Given the description of an element on the screen output the (x, y) to click on. 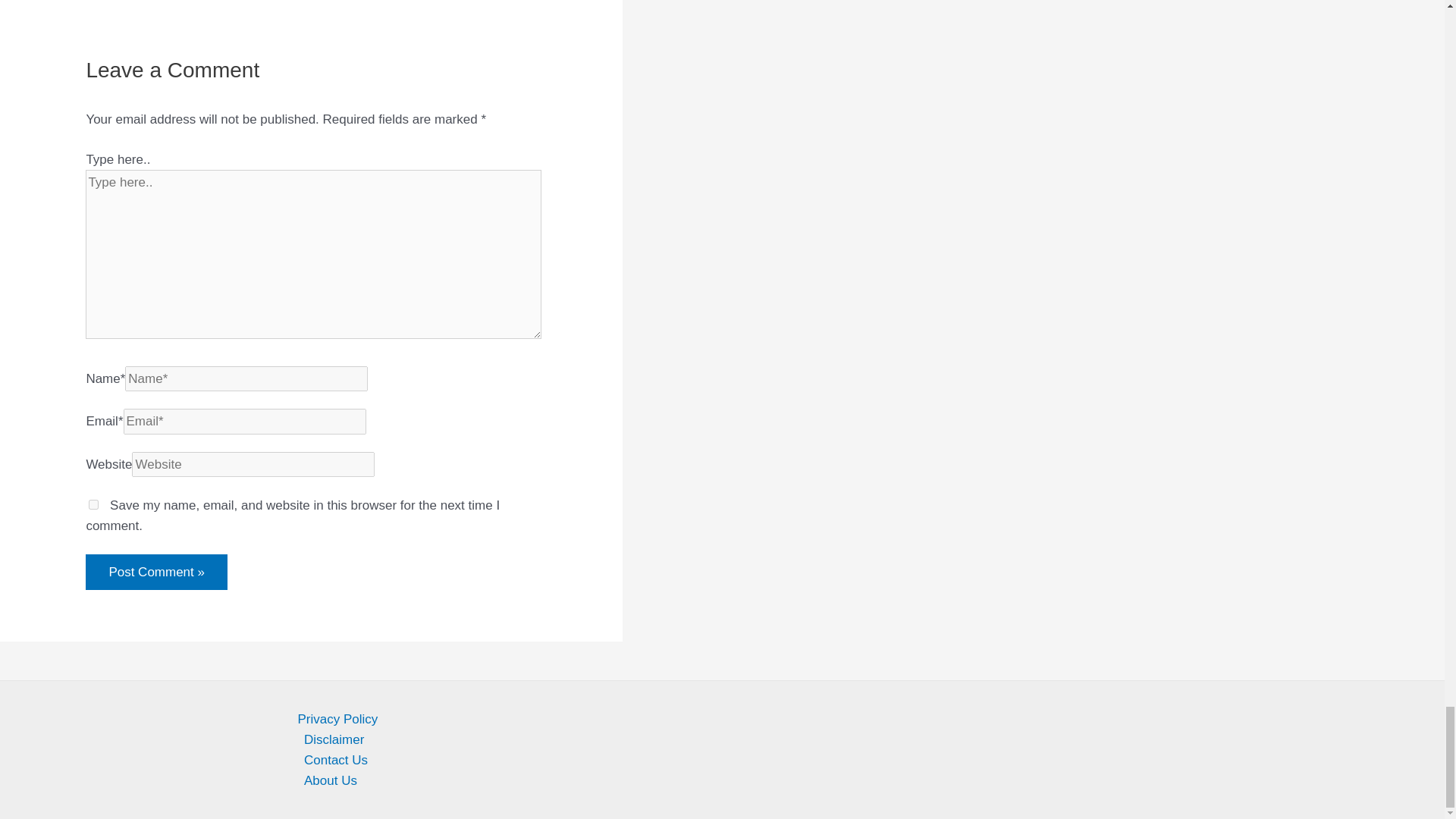
Contact Us (736, 760)
Disclaimer (736, 739)
yes (93, 504)
Privacy Policy (736, 719)
About Us (736, 780)
